Given the description of an element on the screen output the (x, y) to click on. 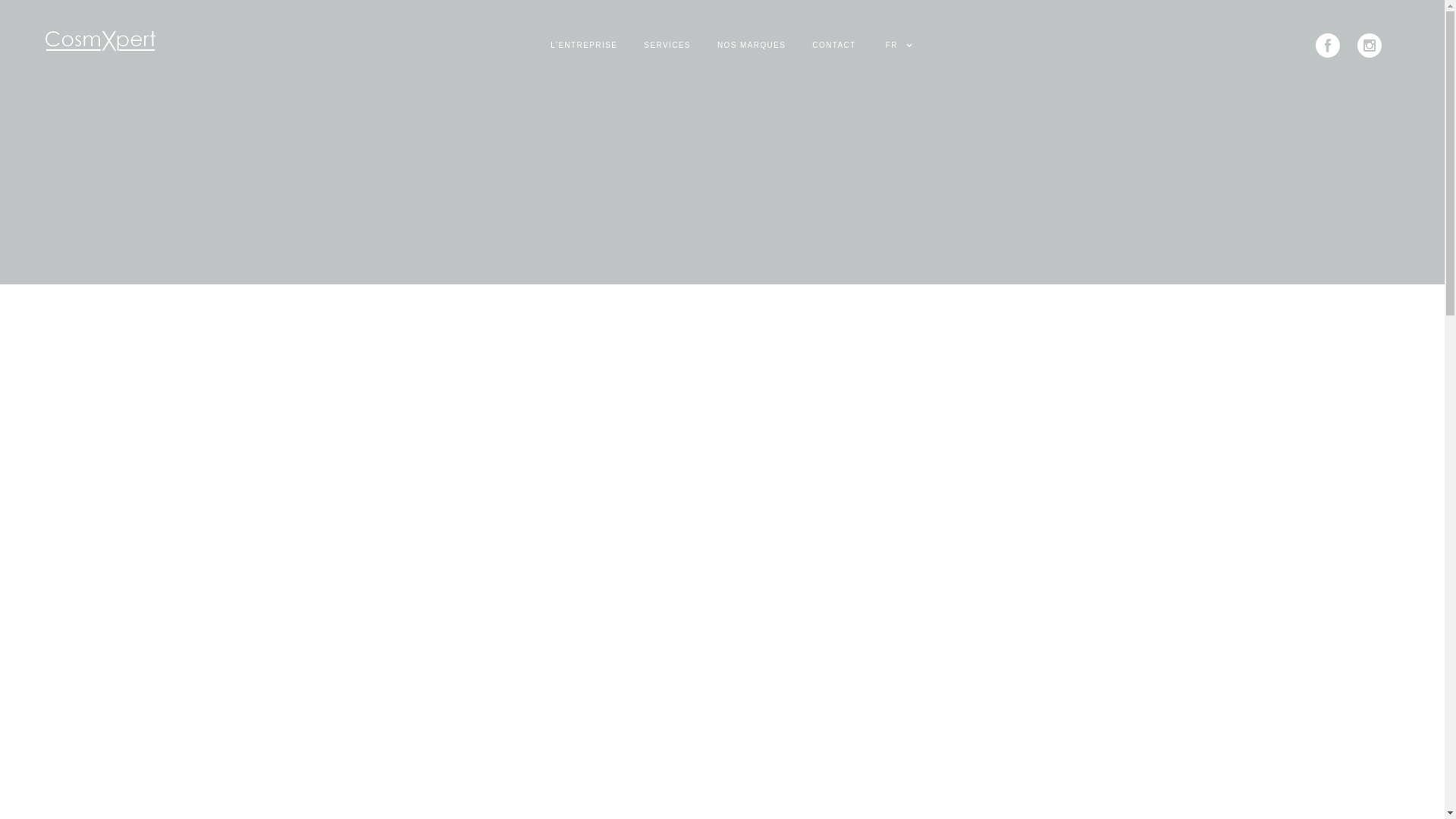
CONTACT Element type: text (835, 47)
L'ENTREPRISE Element type: text (585, 47)
SERVICES Element type: text (669, 47)
NOS MARQUES Element type: text (753, 47)
